Given the description of an element on the screen output the (x, y) to click on. 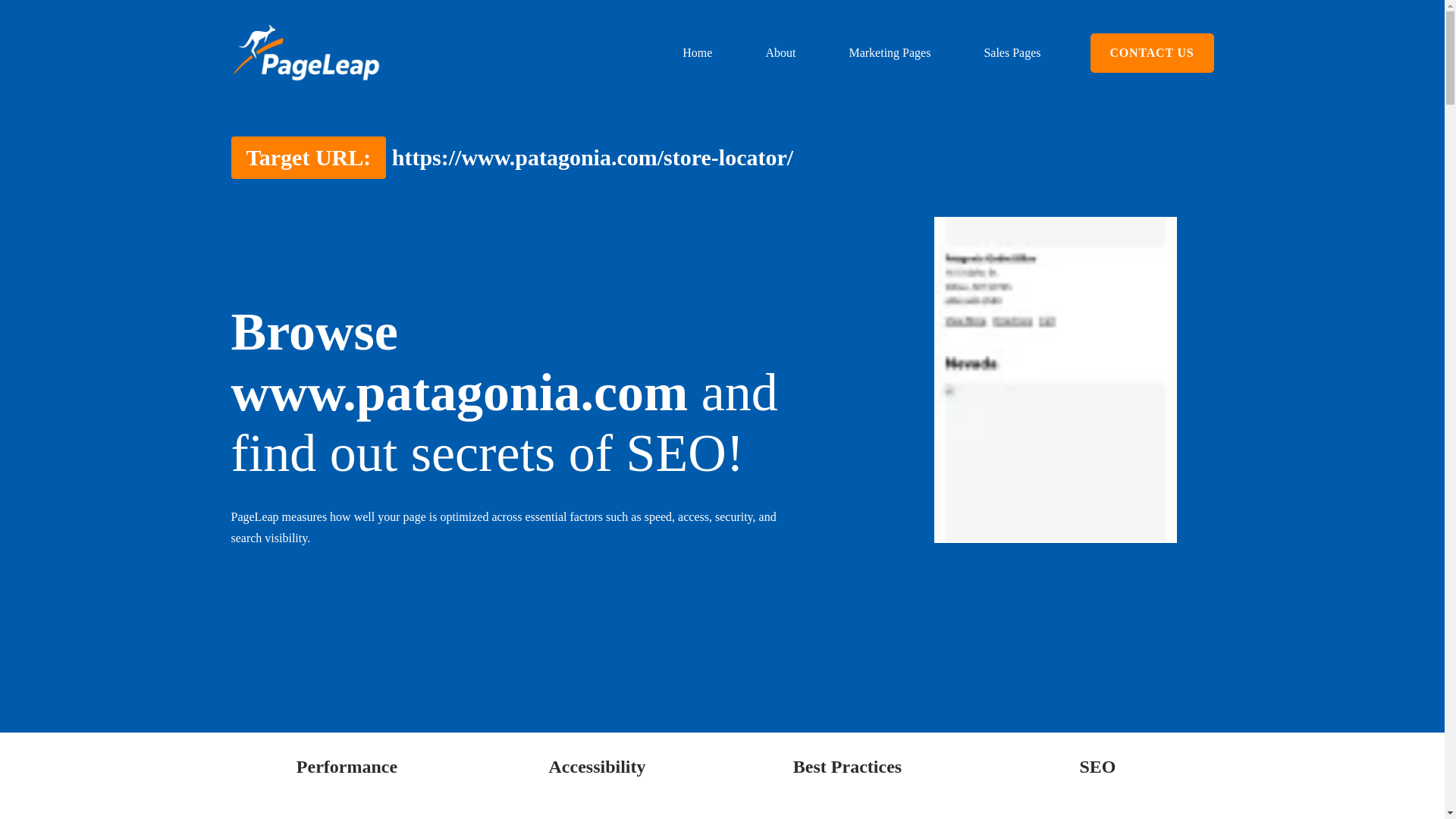
Marketing Pages (889, 53)
Sales Pages (1011, 53)
CONTACT US (1152, 52)
